Given the description of an element on the screen output the (x, y) to click on. 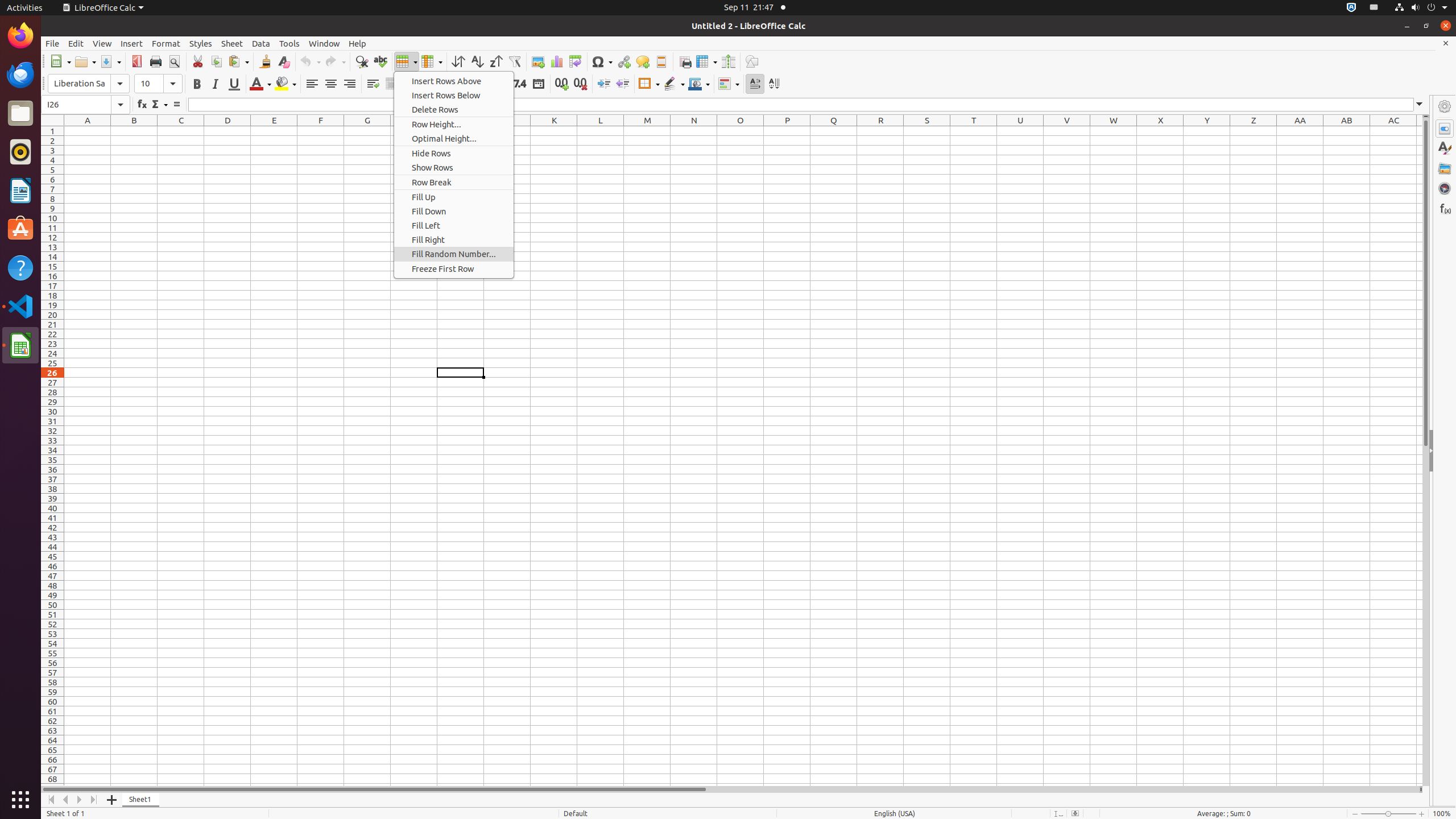
IsaHelpMain.desktop Element type: label (75, 170)
Firefox Web Browser Element type: push-button (20, 35)
Activities Element type: label (24, 7)
li.txt Element type: label (146, 50)
